Given the description of an element on the screen output the (x, y) to click on. 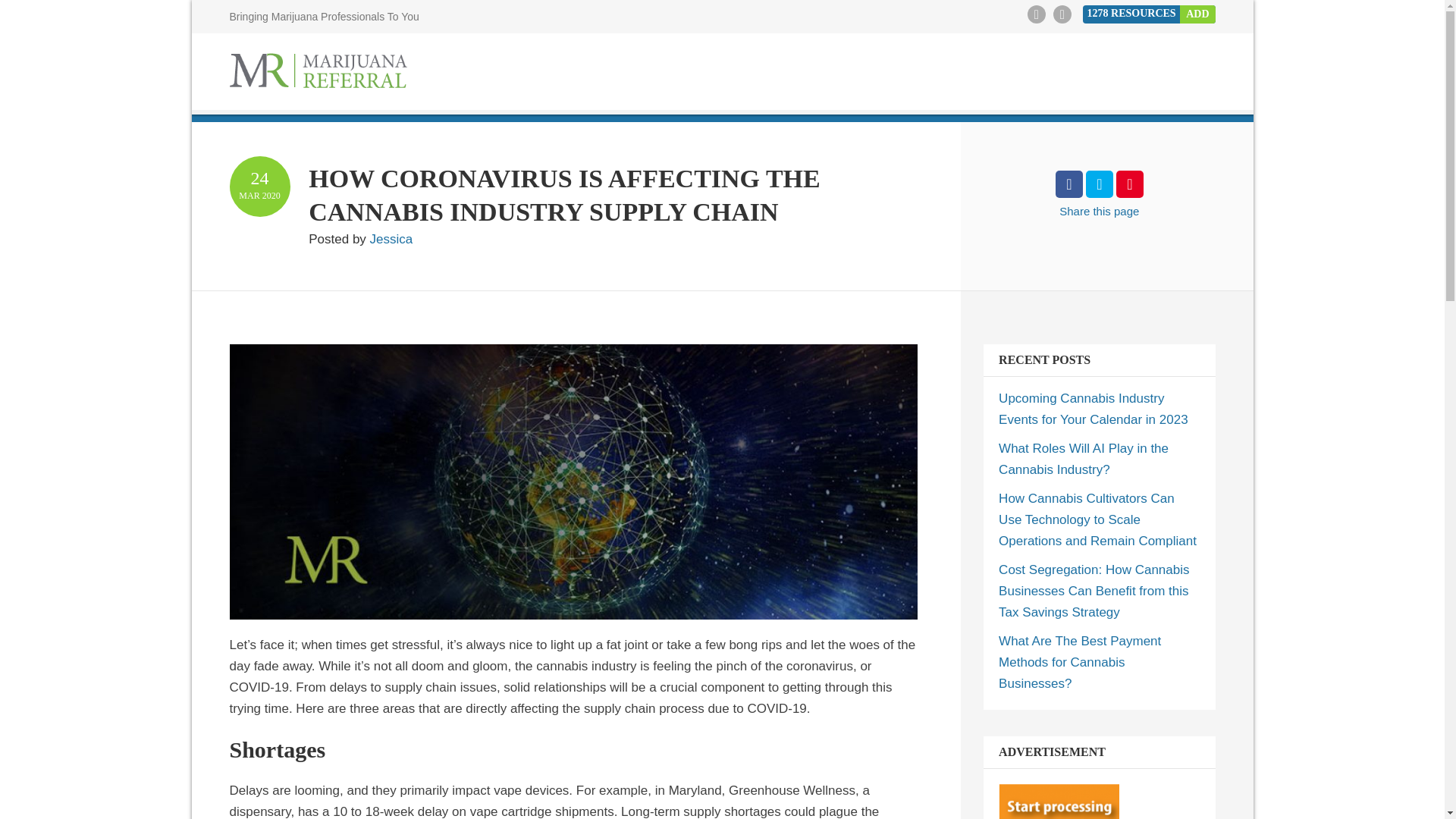
What Are The Best Payment Methods for Cannabis Businesses? (1079, 662)
Posted by Jessica (360, 238)
What Roles Will AI Play in the Cannabis Industry? (1083, 458)
Marijuana Referral (317, 73)
View all posts by Jessica (360, 238)
ADD (1196, 13)
Upcoming Cannabis Industry Events for Your Calendar in 2023 (1093, 408)
